Given the description of an element on the screen output the (x, y) to click on. 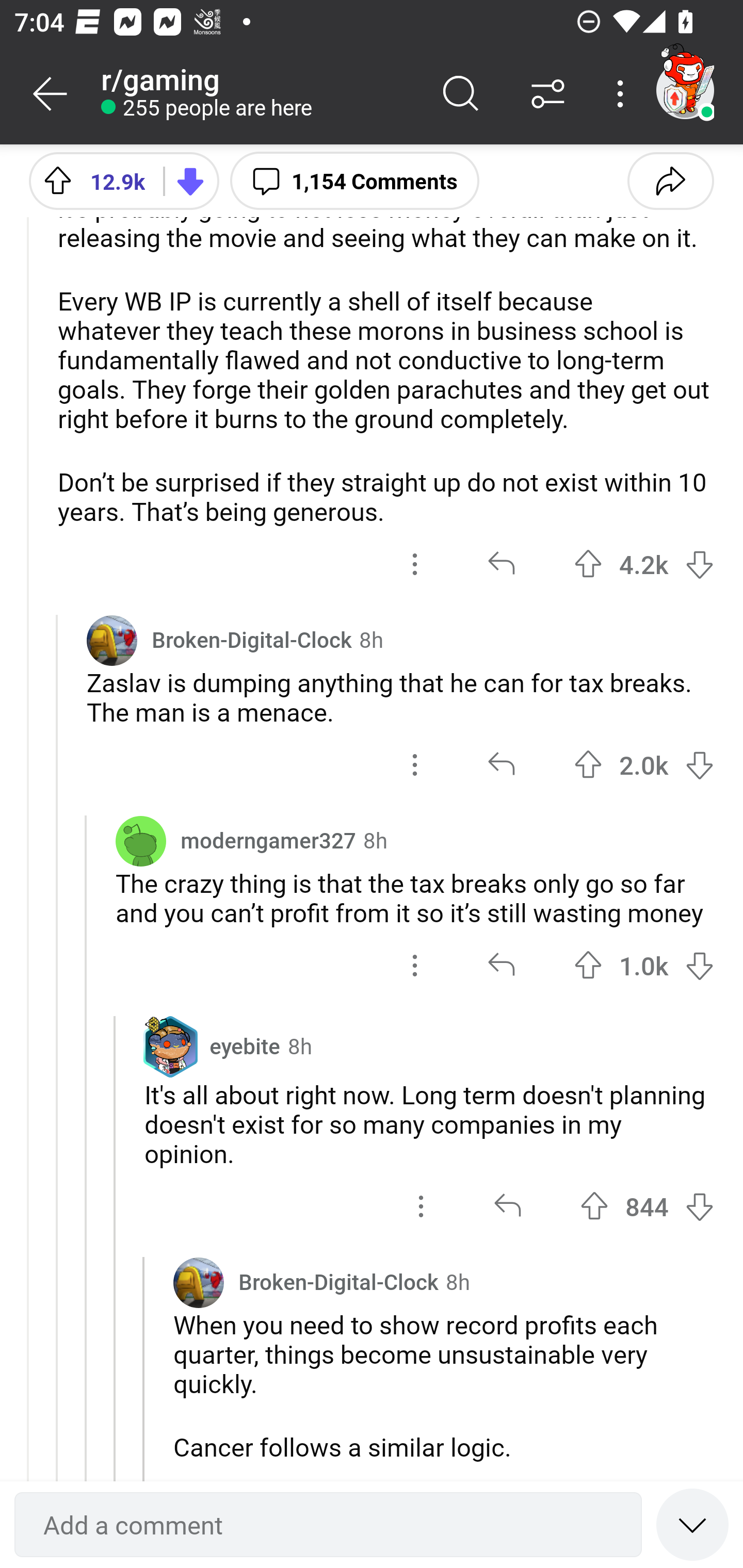
Back (50, 93)
TestAppium002 account (685, 90)
Search comments (460, 93)
Sort comments (547, 93)
More options (623, 93)
r/gaming 255 people are here (259, 93)
Upvote 12.9k (88, 180)
1,154 Comments (354, 180)
Share (670, 180)
options (414, 564)
Upvote 4.2k 4233 votes Downvote (643, 564)
Avatar (111, 639)
options (414, 765)
Upvote 2.0k 2036 votes Downvote (643, 765)
Avatar (140, 840)
options (414, 965)
Upvote 1.0k 1008 votes Downvote (643, 965)
options (420, 1205)
Upvote 844 844 votes Downvote (647, 1205)
Avatar (198, 1282)
Speed read (692, 1524)
Add a comment (327, 1524)
